Given the description of an element on the screen output the (x, y) to click on. 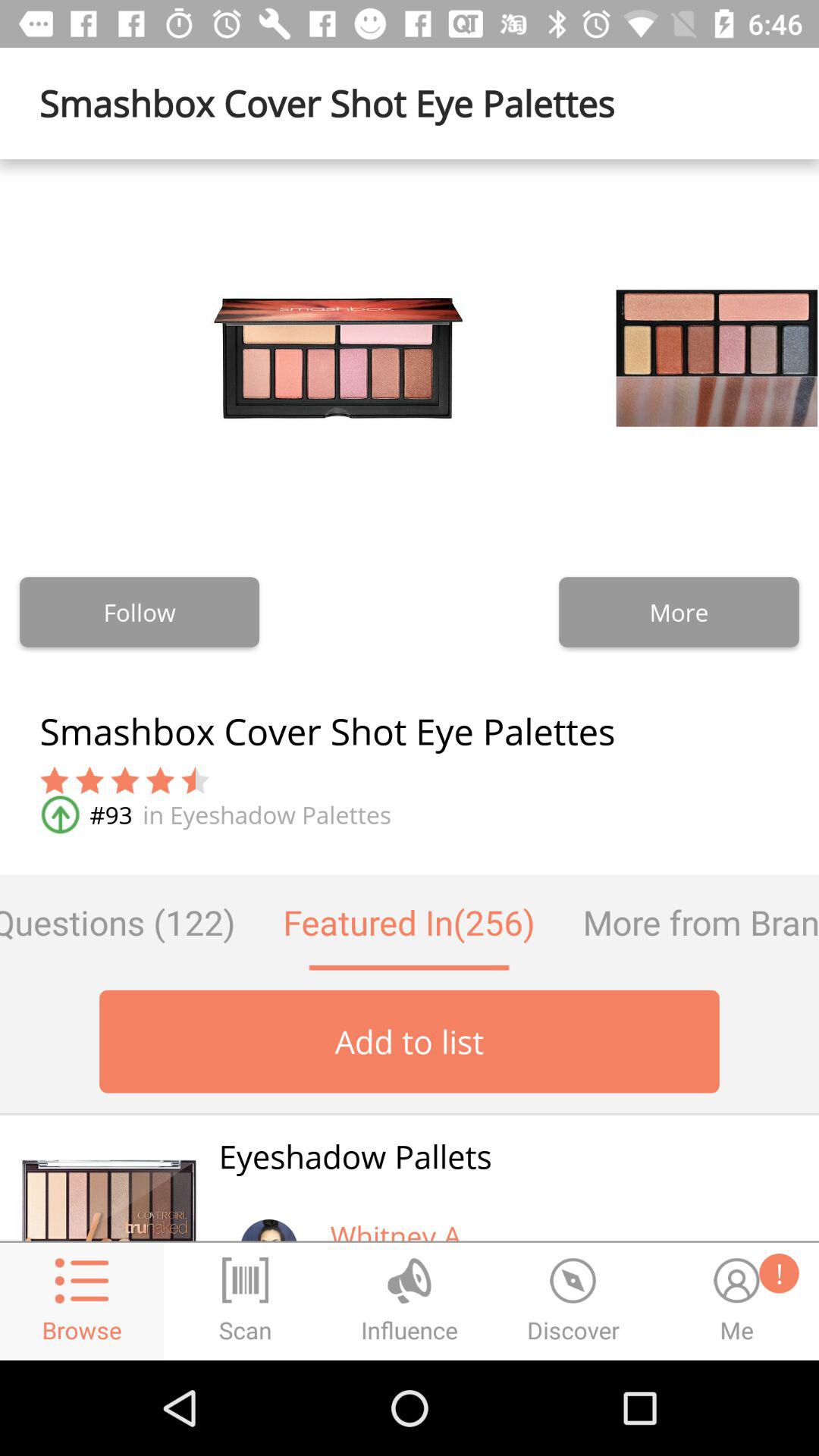
open the icon next to whitney a. item (268, 1219)
